Given the description of an element on the screen output the (x, y) to click on. 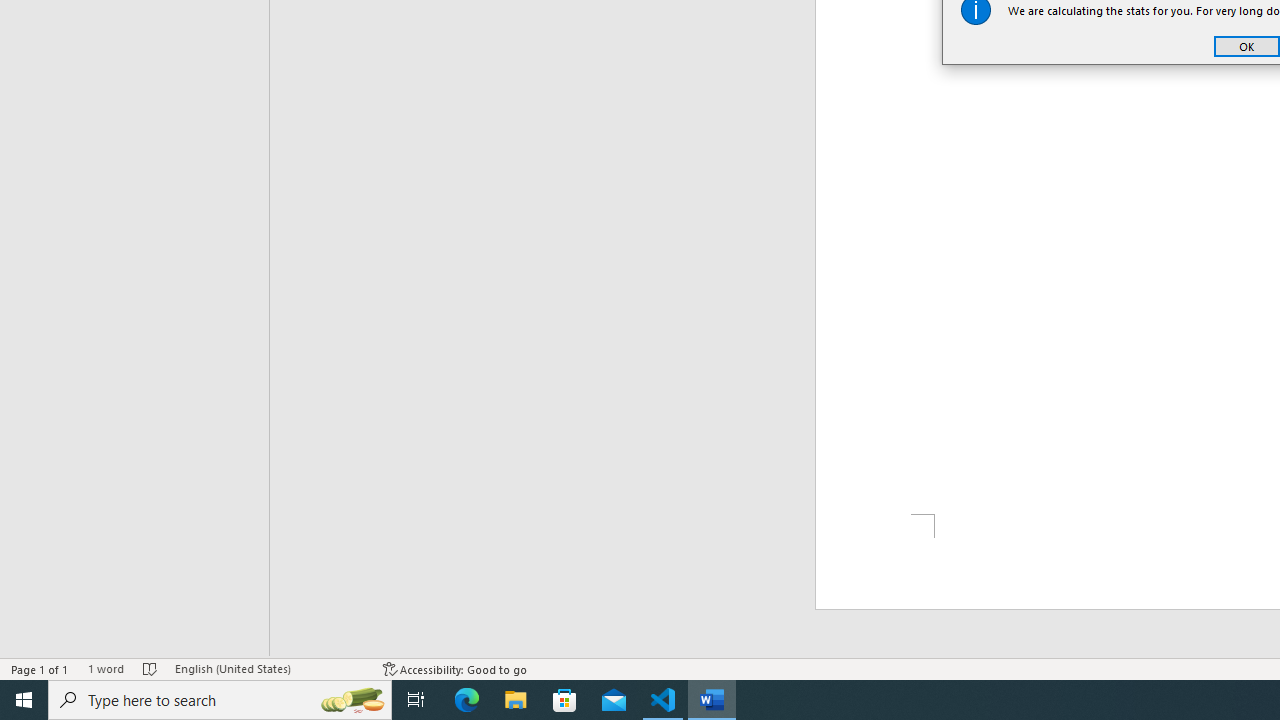
File Explorer (516, 699)
Microsoft Store (565, 699)
Task View (415, 699)
Word - 1 running window (712, 699)
Start (24, 699)
Microsoft Edge (466, 699)
Type here to search (219, 699)
Search highlights icon opens search home window (351, 699)
Visual Studio Code - 1 running window (663, 699)
